Given the description of an element on the screen output the (x, y) to click on. 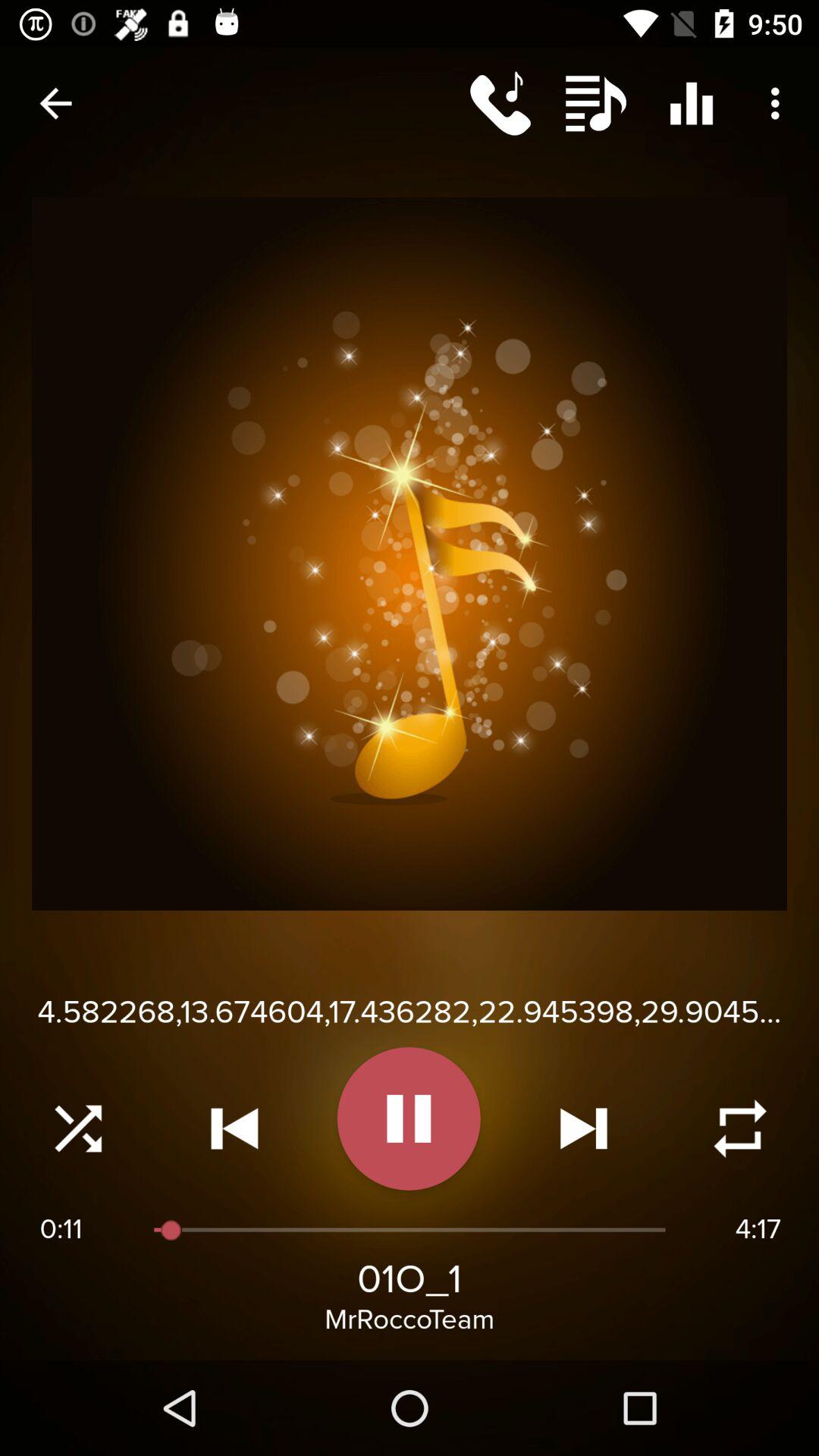
shuffle tracks (78, 1128)
